Given the description of an element on the screen output the (x, y) to click on. 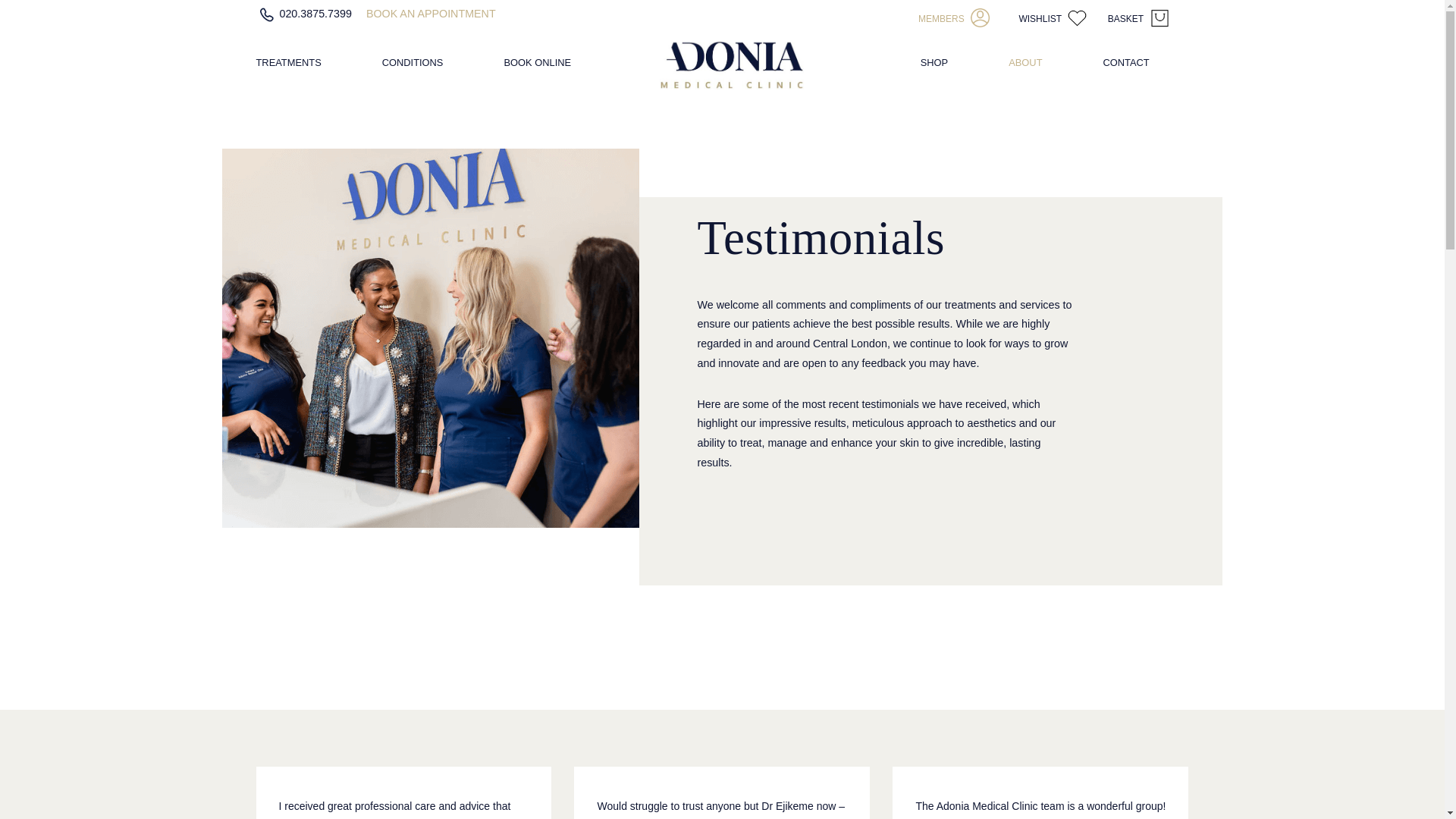
WISHLIST (1055, 17)
BASKET (1140, 18)
TREATMENTS (288, 66)
BOOK AN APPOINTMENT (431, 13)
MEMBERS (956, 17)
020.3875.7399 (304, 13)
